Given the description of an element on the screen output the (x, y) to click on. 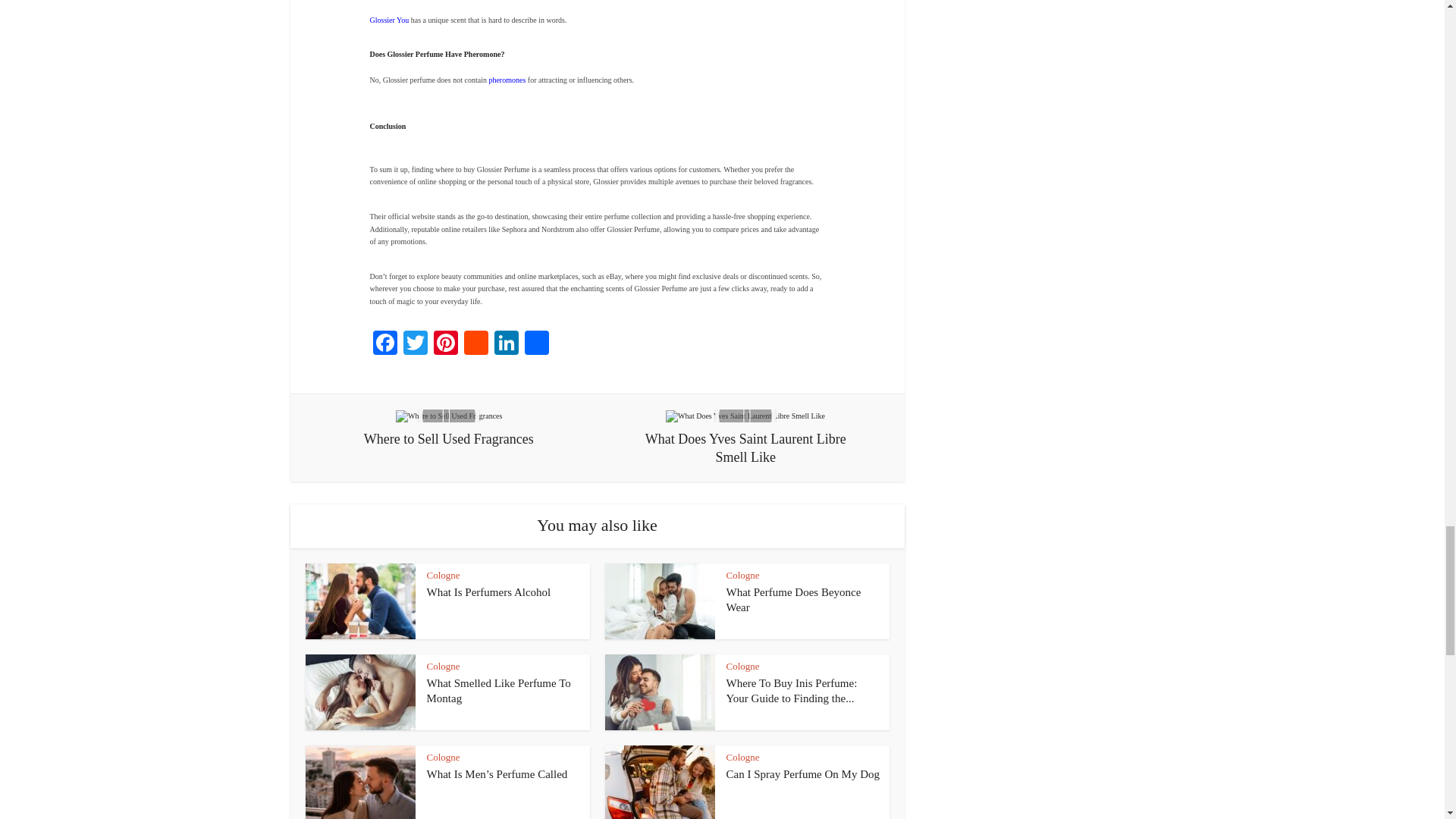
Pinterest (445, 344)
Facebook (384, 344)
LinkedIn (506, 344)
What Is Perfumers Alcohol (488, 592)
Reddit (476, 344)
What Perfume Does Beyonce Wear 6 (659, 601)
What Smelled Like Perfume To Montag (498, 690)
What Is Perfumers Alcohol 5 (359, 601)
What Does Yves Saint Laurent Libre Smell Like 4 (745, 416)
